Given the description of an element on the screen output the (x, y) to click on. 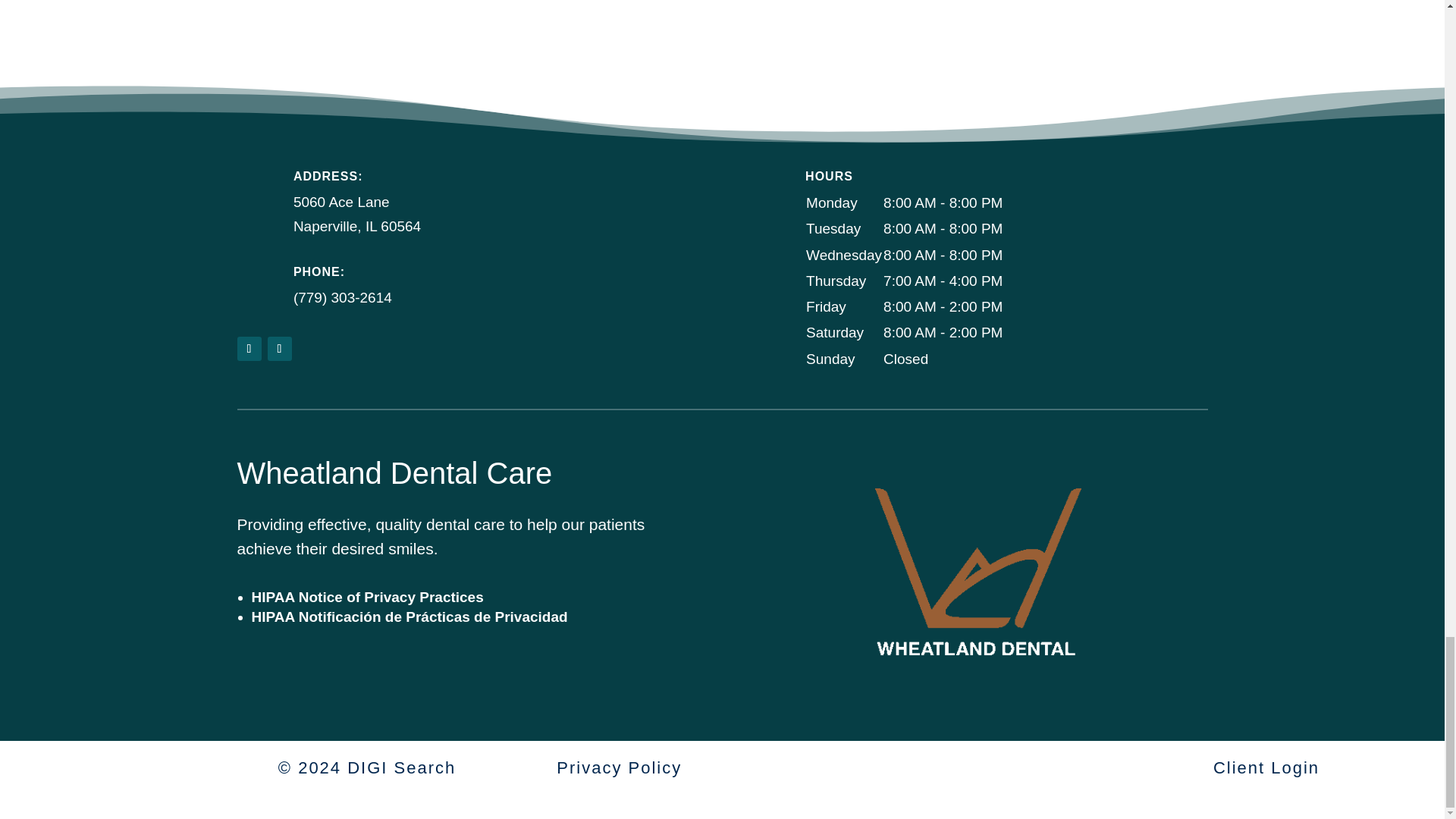
Follow on Facebook (247, 348)
Follow on Yelp (278, 348)
